Given the description of an element on the screen output the (x, y) to click on. 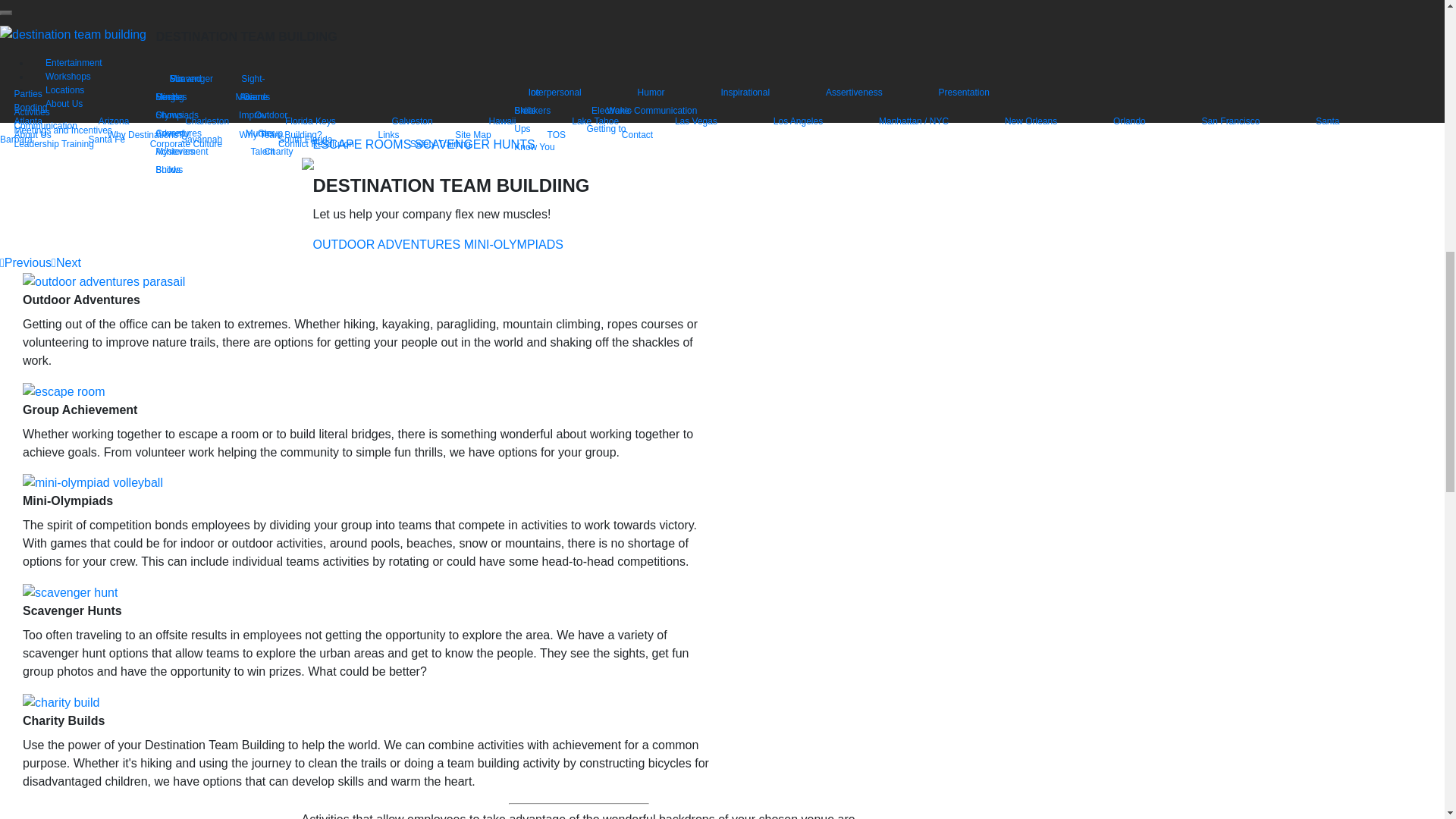
GROUP ACHIEVEMENT (531, 43)
escape room (63, 392)
charity build (61, 702)
Previous (25, 262)
outdoor adventures (103, 281)
mini-olympiad (93, 483)
Next (65, 262)
scavenger hunt (70, 592)
OUTDOOR ADVENTURES (386, 43)
OUTDOOR ADVENTURES (386, 244)
